Given the description of an element on the screen output the (x, y) to click on. 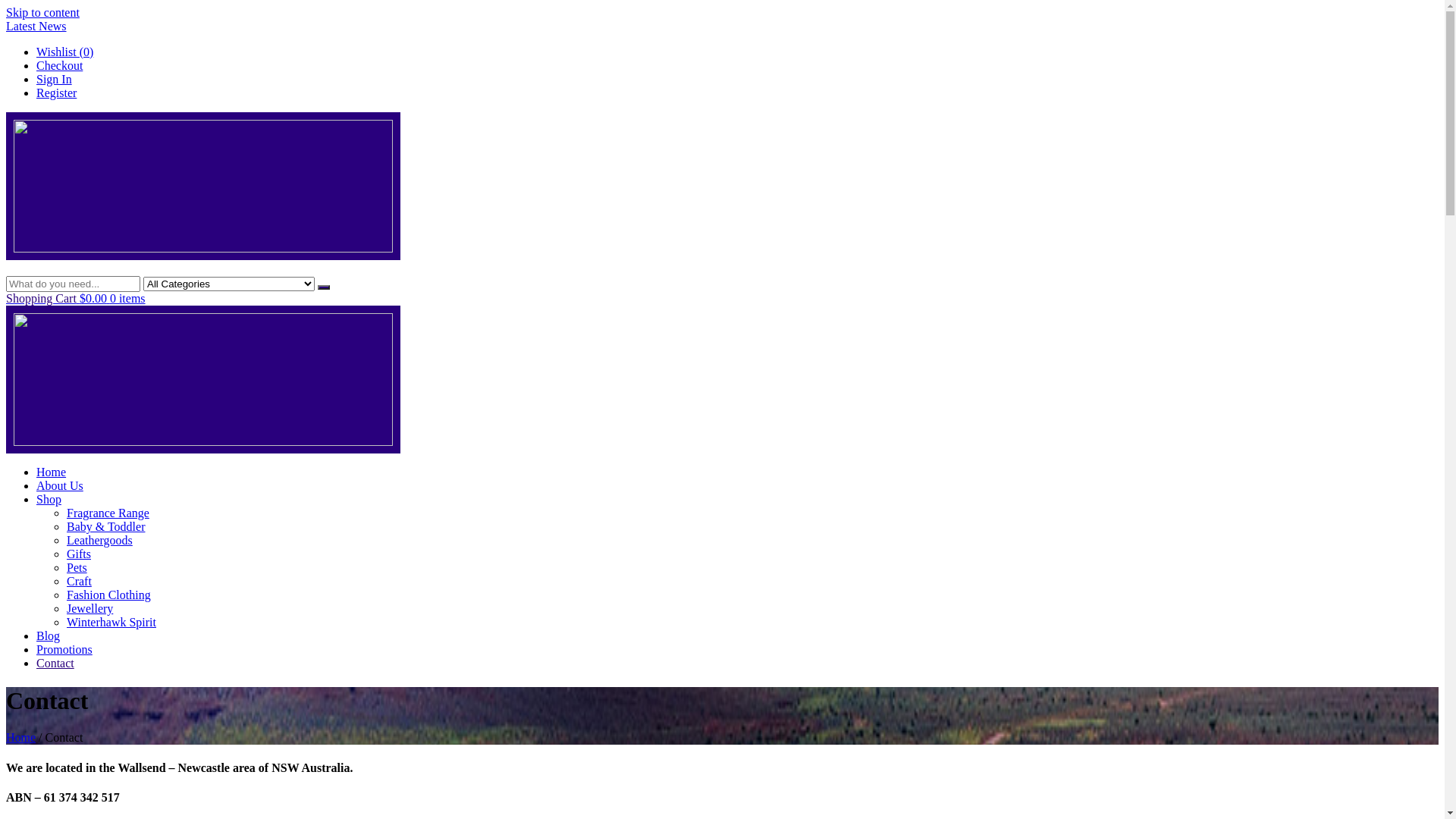
Checkout Element type: text (59, 65)
Blog Element type: text (47, 635)
Contact Element type: text (55, 662)
Promotions Element type: text (64, 649)
Home Element type: text (20, 737)
Shopping Cart $0.00 0 items Element type: text (722, 298)
Winterhawk Spirit Element type: text (111, 621)
About Us Element type: text (59, 485)
Gifts Element type: text (78, 553)
Baby & Toddler Element type: text (105, 526)
Shop Element type: text (48, 498)
Jewellery Element type: text (89, 608)
Home Element type: text (50, 471)
Leathergoods Element type: text (99, 539)
Pets Element type: text (76, 567)
Latest News Element type: text (36, 25)
Fragrance Range Element type: text (107, 512)
Sign In Element type: text (54, 78)
Fashion Clothing Element type: text (108, 594)
Wishlist (0) Element type: text (737, 52)
Register Element type: text (56, 92)
Skip to content Element type: text (42, 12)
Craft Element type: text (78, 580)
